Given the description of an element on the screen output the (x, y) to click on. 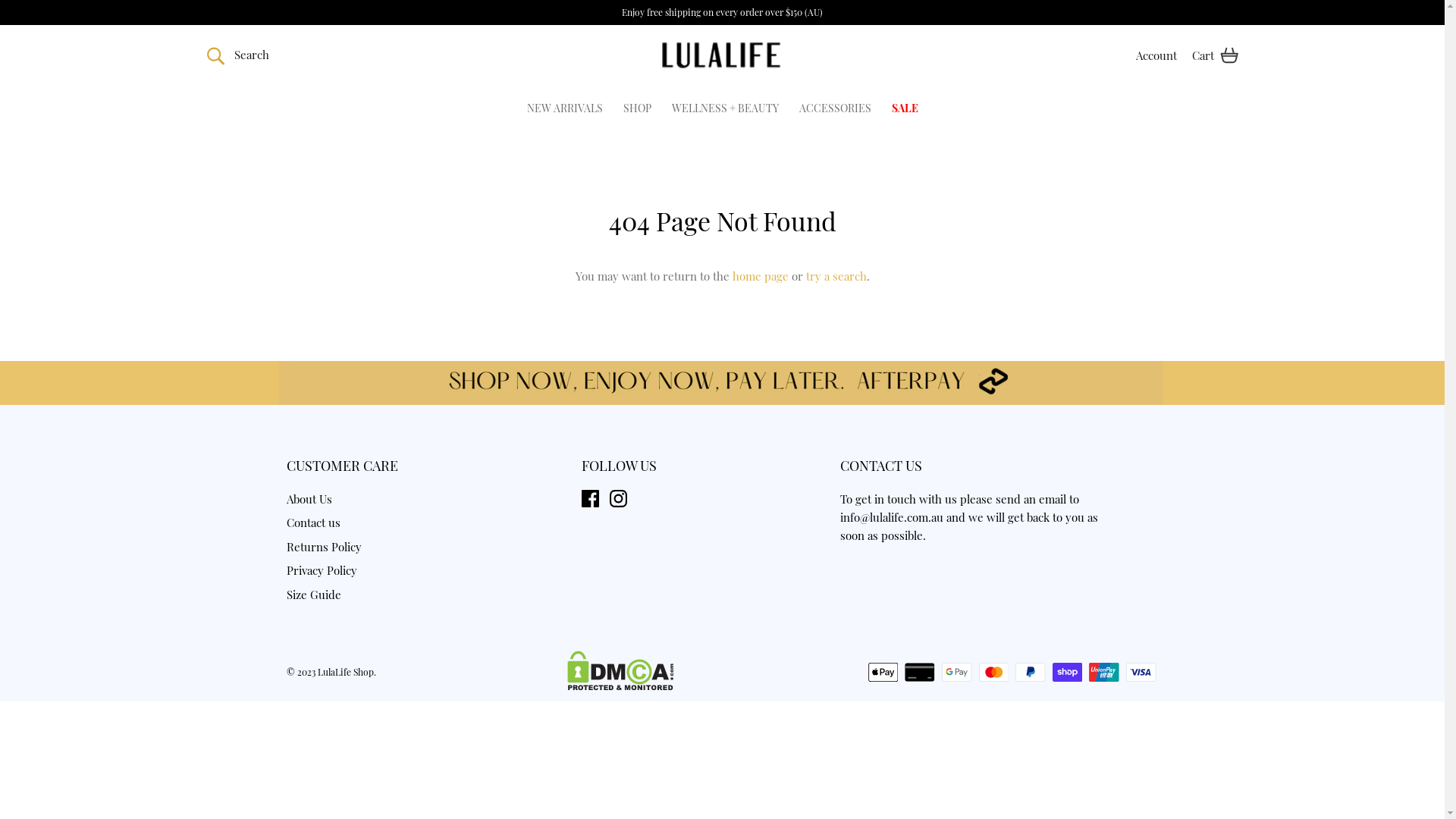
Privacy Policy Element type: text (321, 569)
Returns Policy Element type: text (323, 546)
Size Guide Element type: text (313, 594)
WELLNESS + BEAUTY Element type: text (724, 107)
Account Element type: text (1155, 55)
try a search Element type: text (835, 275)
ACCESSORIES Element type: text (835, 107)
SALE Element type: text (904, 107)
DMCA.com Protection Status Element type: hover (620, 686)
NEW ARRIVALS Element type: text (564, 107)
Cart Element type: text (1215, 54)
Contact us Element type: text (313, 522)
Instagram Element type: text (618, 498)
LulaLife Shop Element type: text (344, 671)
About Us Element type: text (309, 498)
Search Element type: text (237, 55)
Facebook Element type: text (589, 498)
home page Element type: text (760, 275)
LulaLife Shop Element type: hover (721, 55)
SHOP Element type: text (637, 107)
